Given the description of an element on the screen output the (x, y) to click on. 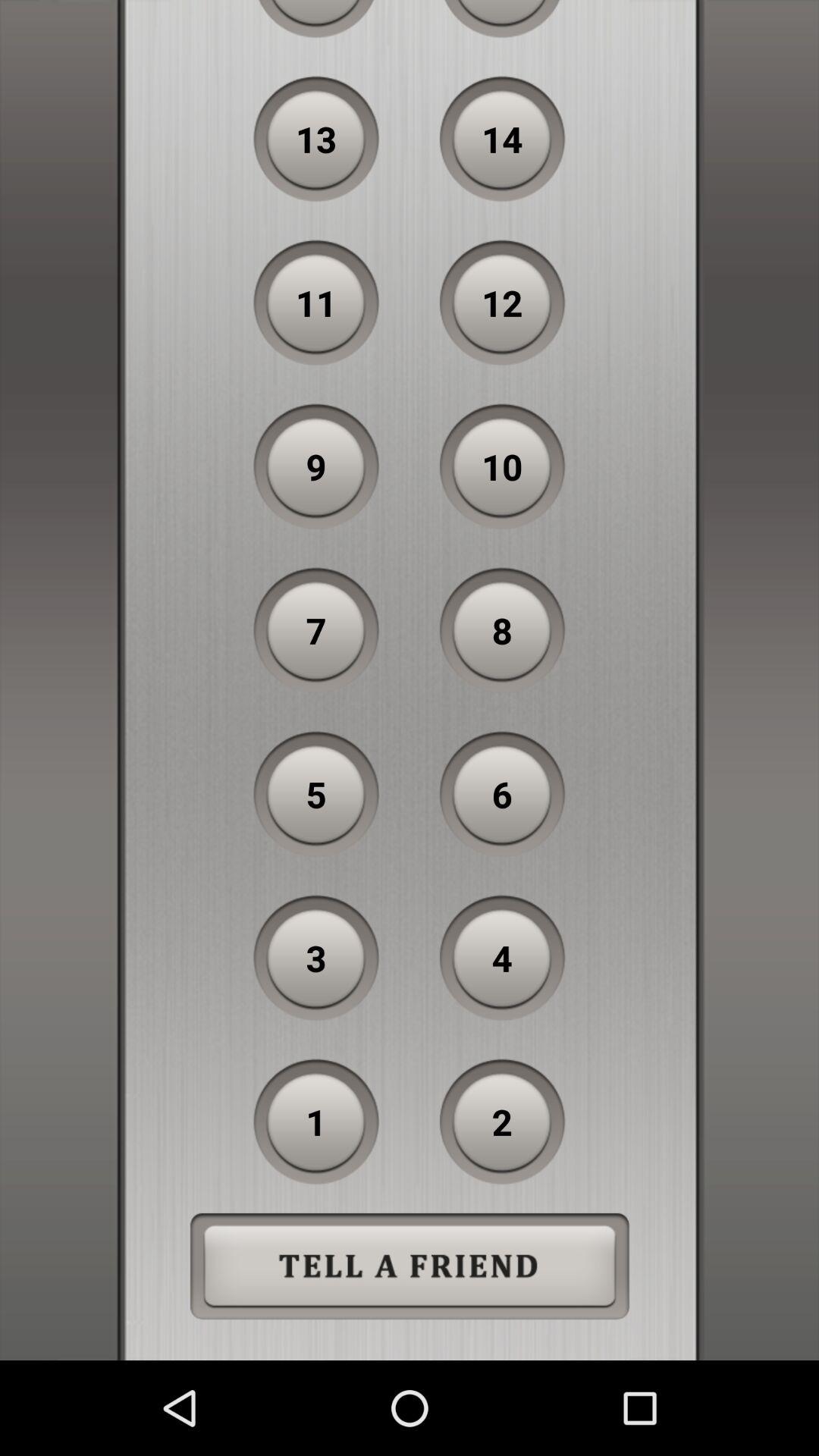
open icon next to 1 item (502, 1121)
